Given the description of an element on the screen output the (x, y) to click on. 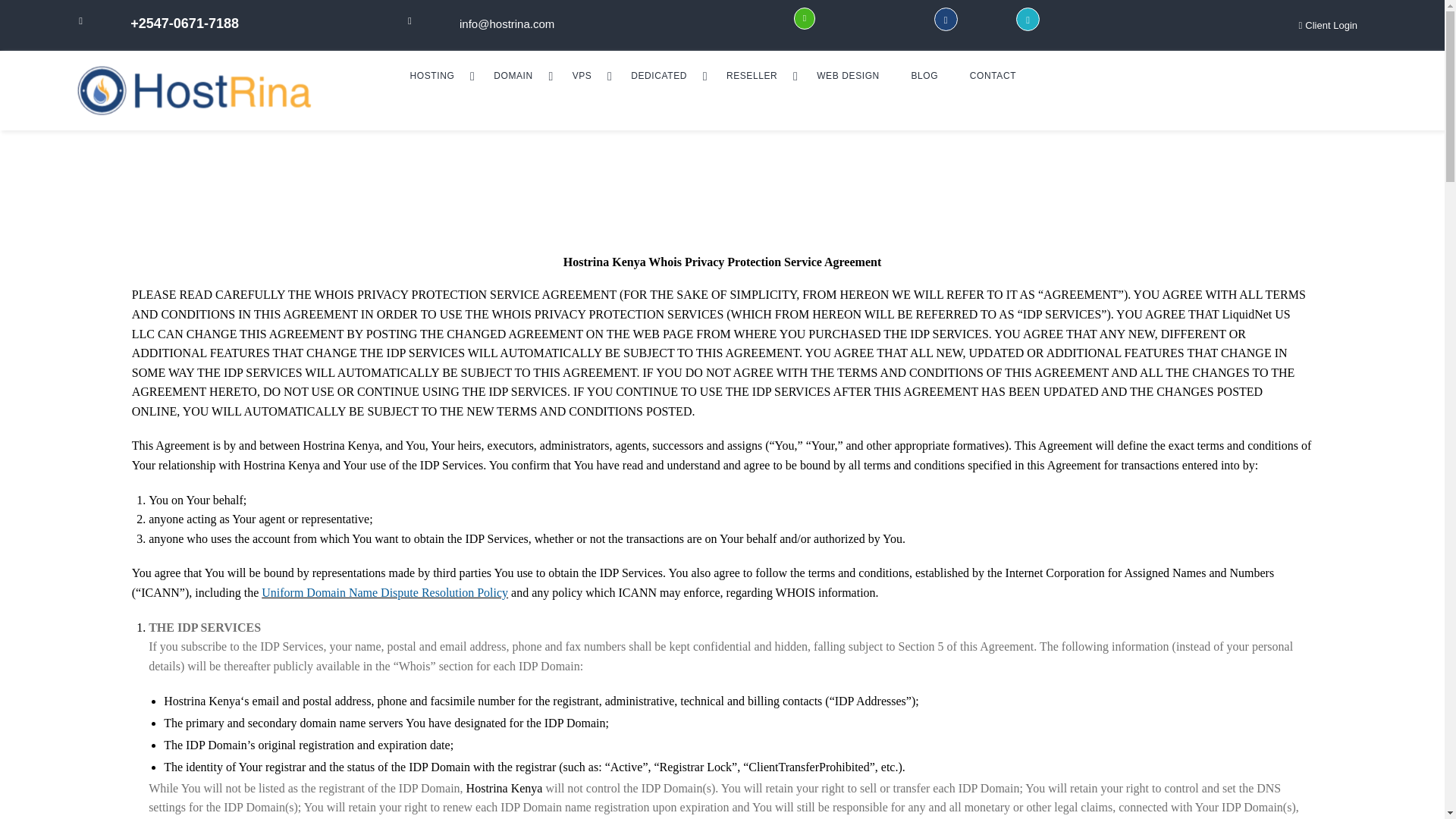
RESELLER (755, 75)
Client Login (1327, 25)
Hostrina Kenya (228, 90)
DEDICATED (662, 75)
HOSTING (436, 75)
Uniform Domain Name Dispute Resolution Policy (385, 592)
WEB DESIGN (847, 75)
BLOG (924, 75)
VPS (585, 75)
DOMAIN (516, 75)
CONTACT (992, 75)
